Given the description of an element on the screen output the (x, y) to click on. 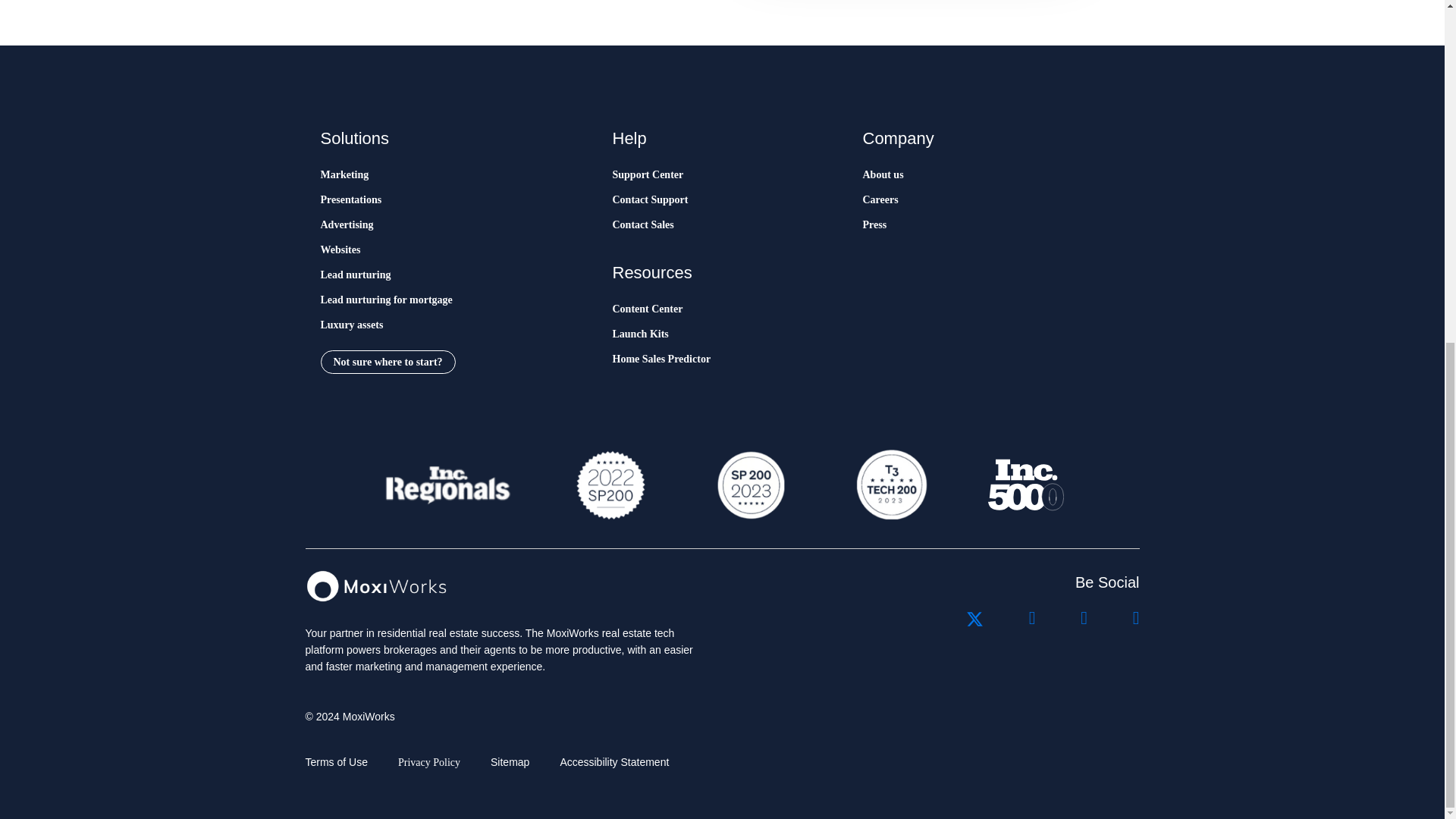
T3 tech 200 2023 (890, 484)
SP 2023 (749, 484)
SP 2022 (610, 484)
